Given the description of an element on the screen output the (x, y) to click on. 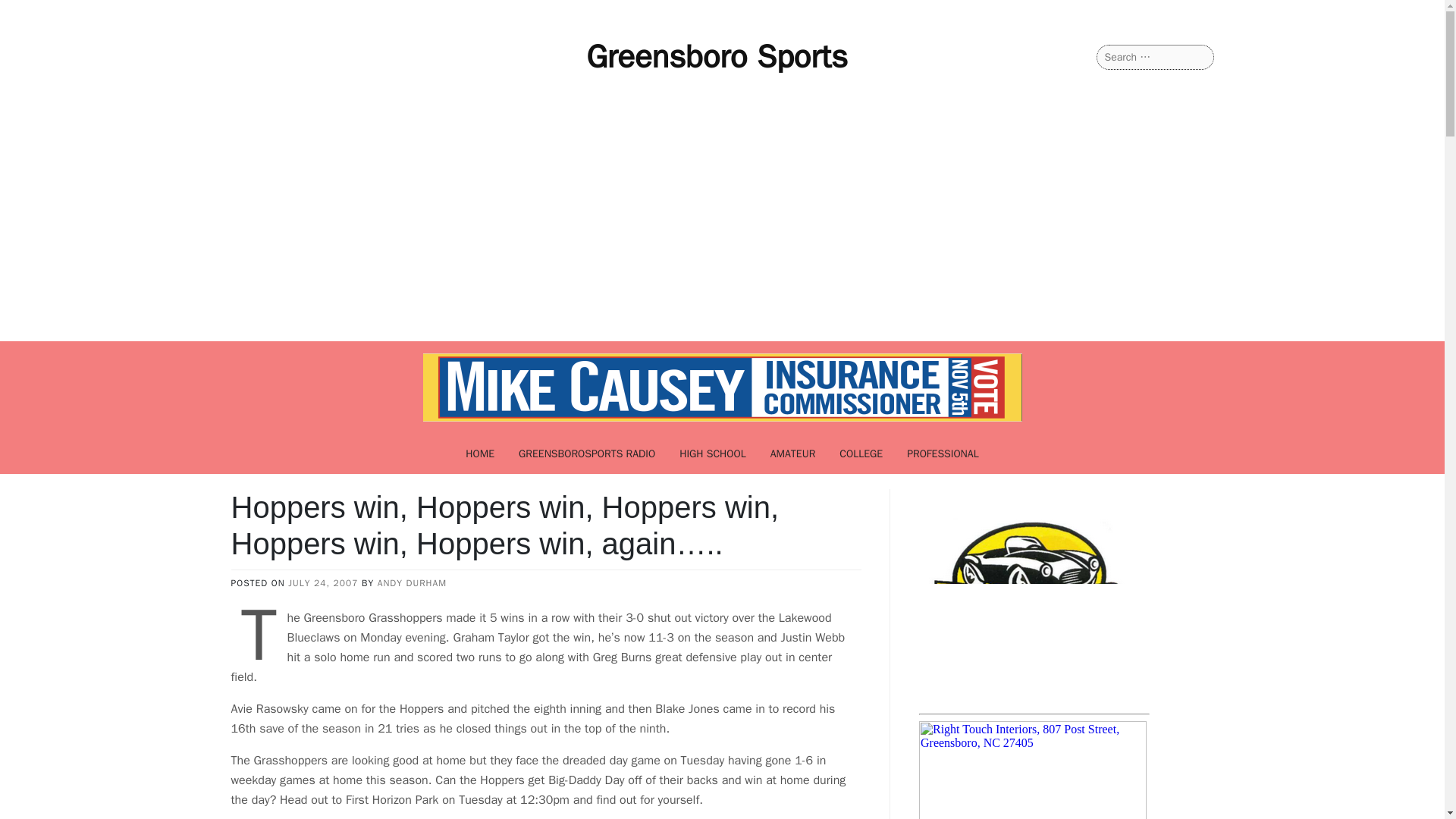
COLLEGE (861, 454)
Greensboro Sports (716, 56)
AMATEUR (793, 454)
HOME (479, 454)
GREENSBOROSPORTS RADIO (586, 454)
ANDY DURHAM (411, 582)
PROFESSIONAL (943, 454)
JULY 24, 2007 (323, 582)
HIGH SCHOOL (712, 454)
